Given the description of an element on the screen output the (x, y) to click on. 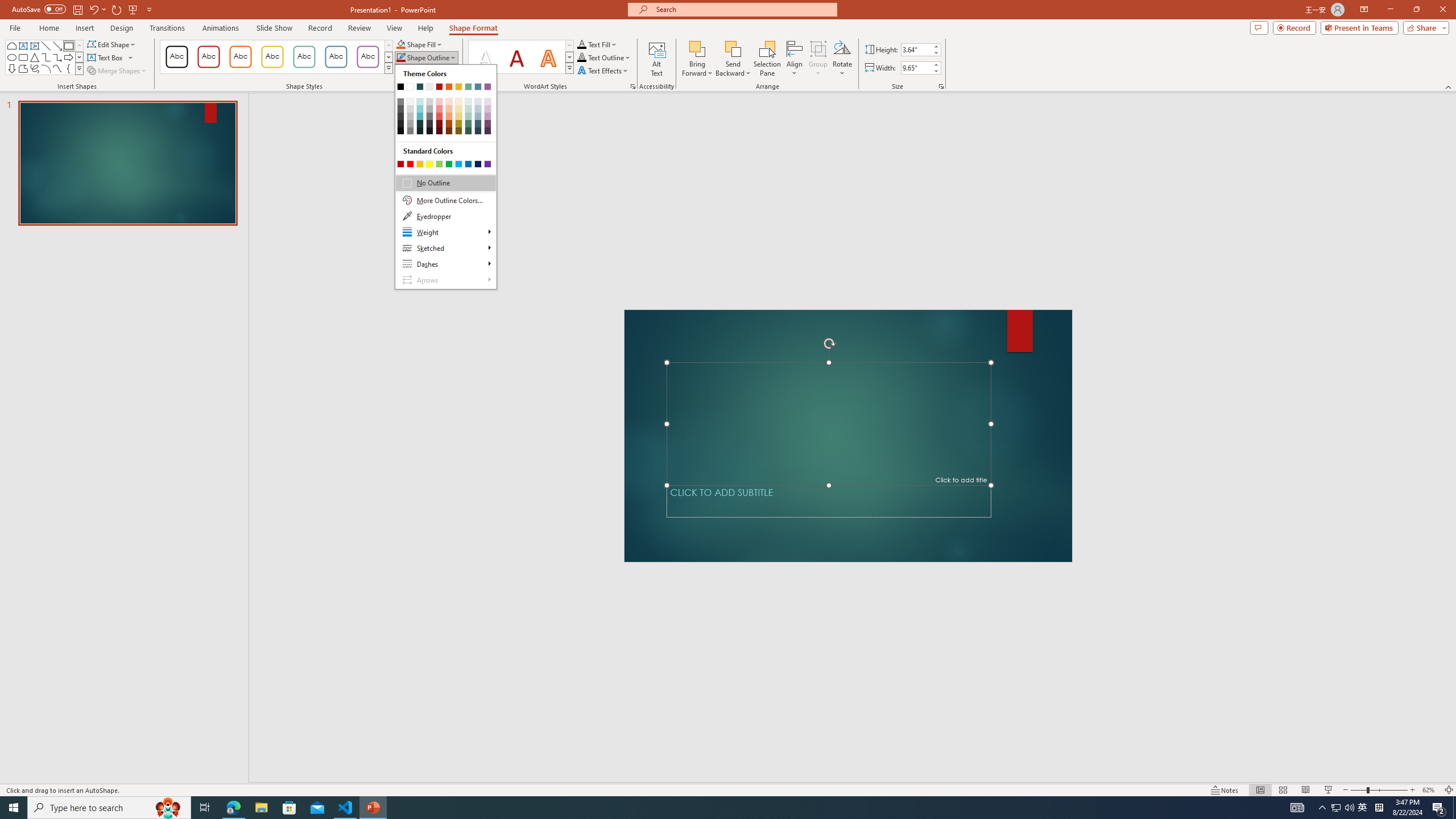
Colored Outline - Black, Dark 1 (176, 56)
Text Outline (604, 56)
Fill: Dark Red, Accent color 1; Shadow (516, 56)
